Given the description of an element on the screen output the (x, y) to click on. 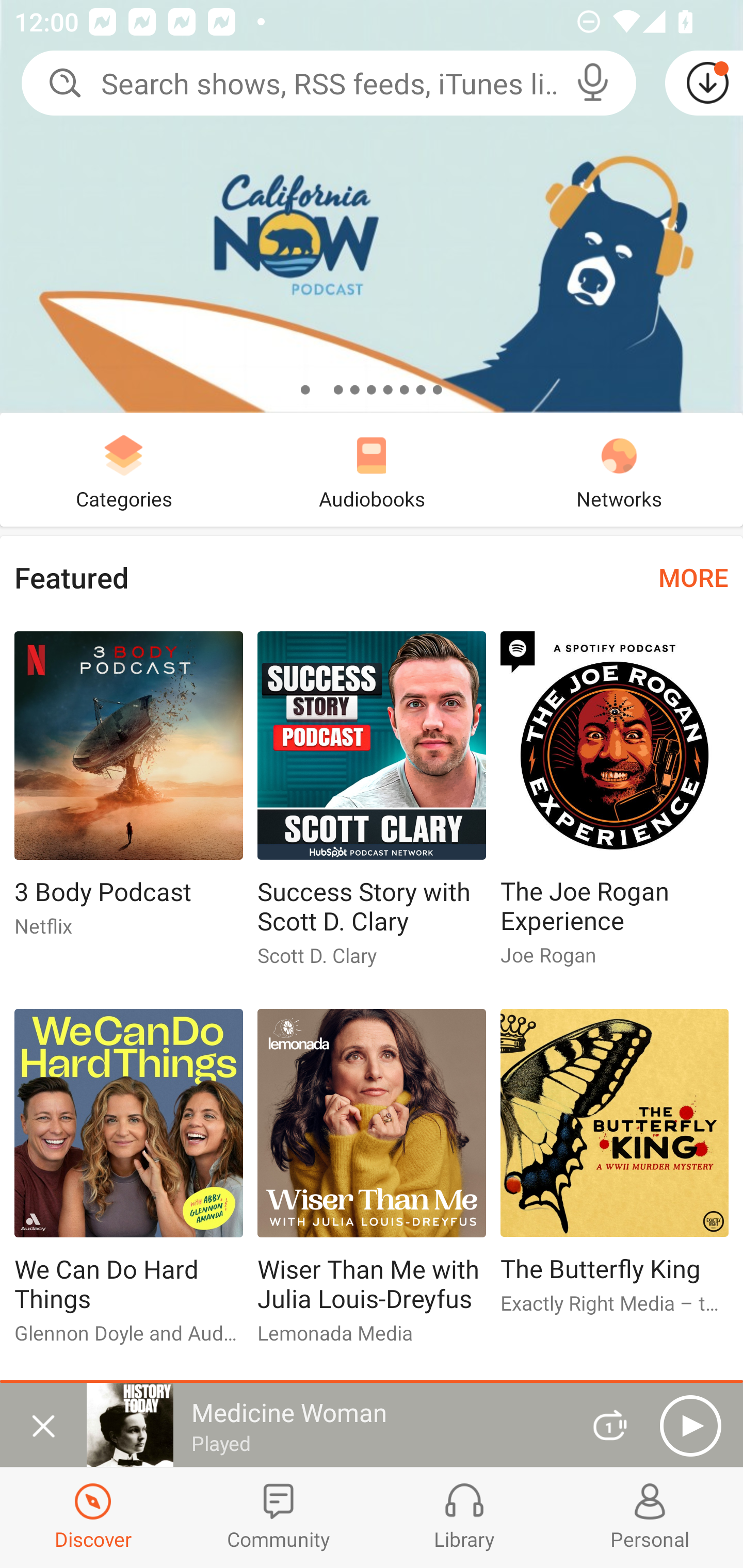
California Now Podcast (371, 206)
Categories (123, 469)
Audiobooks (371, 469)
Networks (619, 469)
MORE (693, 576)
3 Body Podcast 3 Body Podcast Netflix (128, 792)
Medicine Woman Played (326, 1424)
Play (690, 1425)
Discover (92, 1517)
Community (278, 1517)
Library (464, 1517)
Profiles and Settings Personal (650, 1517)
